Given the description of an element on the screen output the (x, y) to click on. 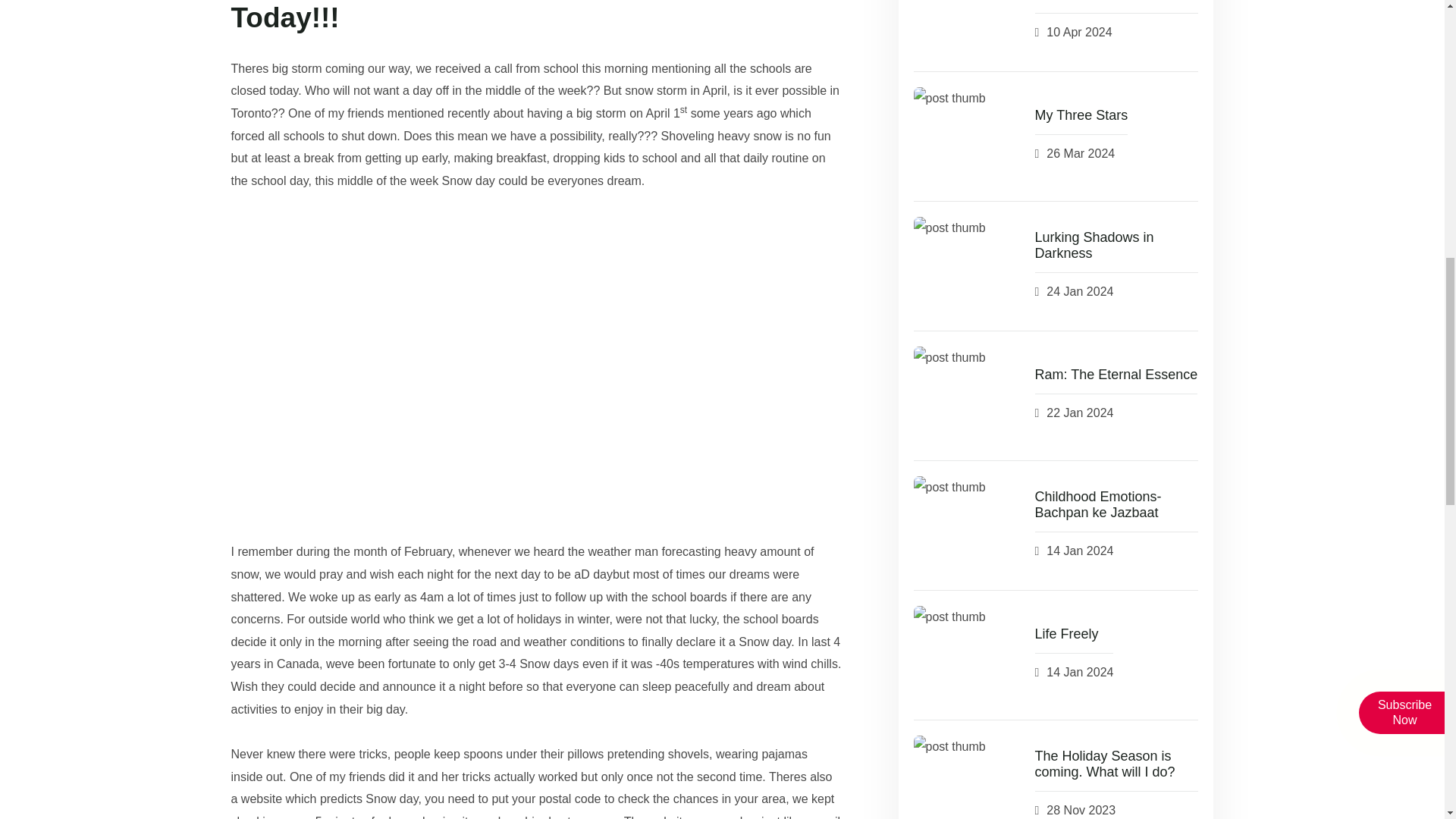
Ram: The Eternal Essence (1114, 375)
22 Jan 2024 (1079, 413)
10 Apr 2024 (1079, 32)
A Historical Celestial Start to the New Year (1115, 1)
Big Storm Coming Our Way, No School Today!!! (535, 17)
My Three Stars (1079, 115)
14 Jan 2024 (1079, 551)
Life Freely (1065, 634)
26 Mar 2024 (1080, 154)
24 Jan 2024 (1079, 292)
Lurking Shadows in Darkness (1115, 246)
Childhood Emotions- Bachpan ke Jazbaat (1115, 504)
